Given the description of an element on the screen output the (x, y) to click on. 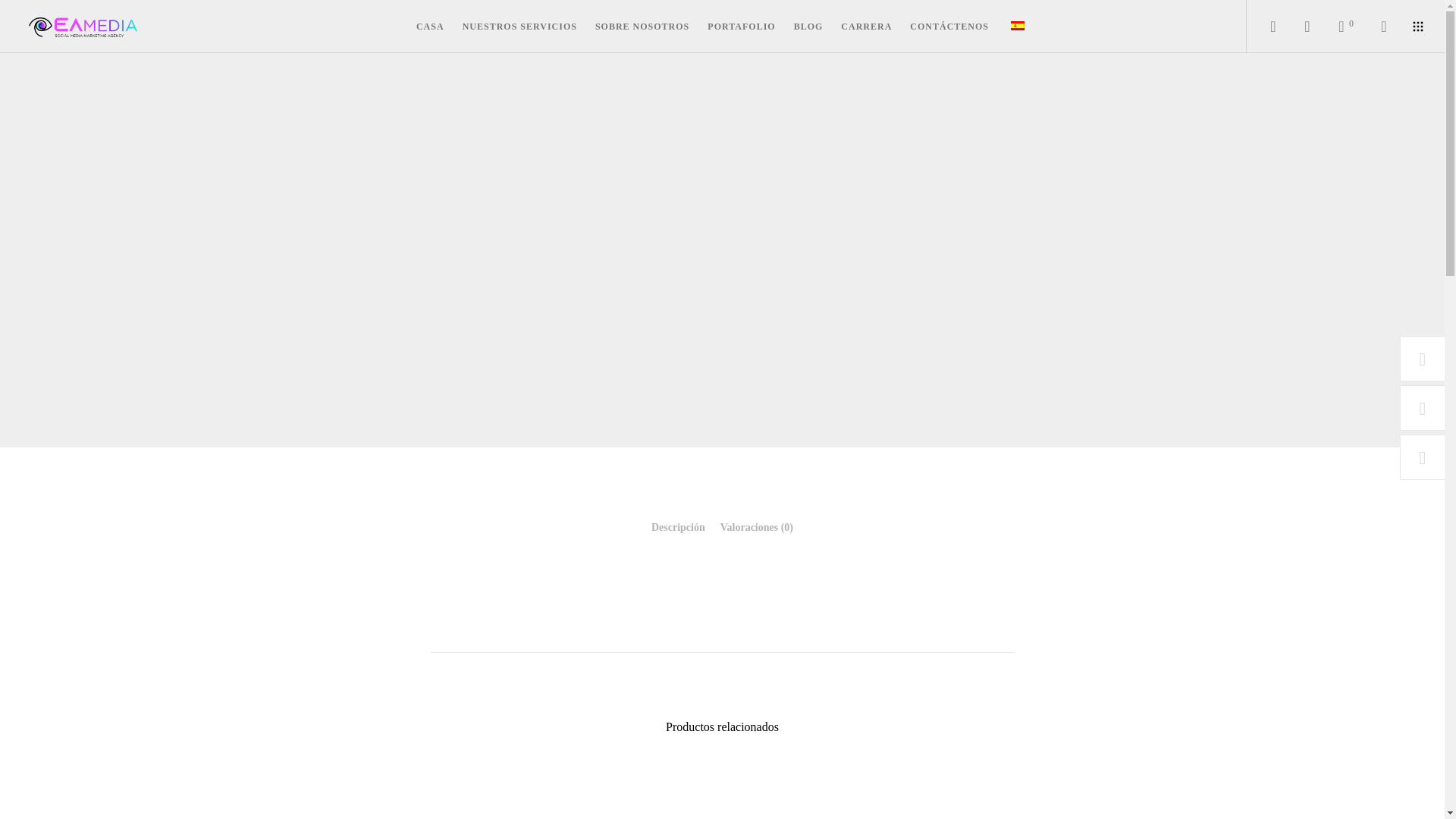
NUESTROS SERVICIOS (519, 26)
CARRERA (866, 26)
BLOG (808, 26)
PORTAFOLIO (741, 26)
Spanish (1017, 25)
SOBRE NOSOTROS (642, 26)
